Given the description of an element on the screen output the (x, y) to click on. 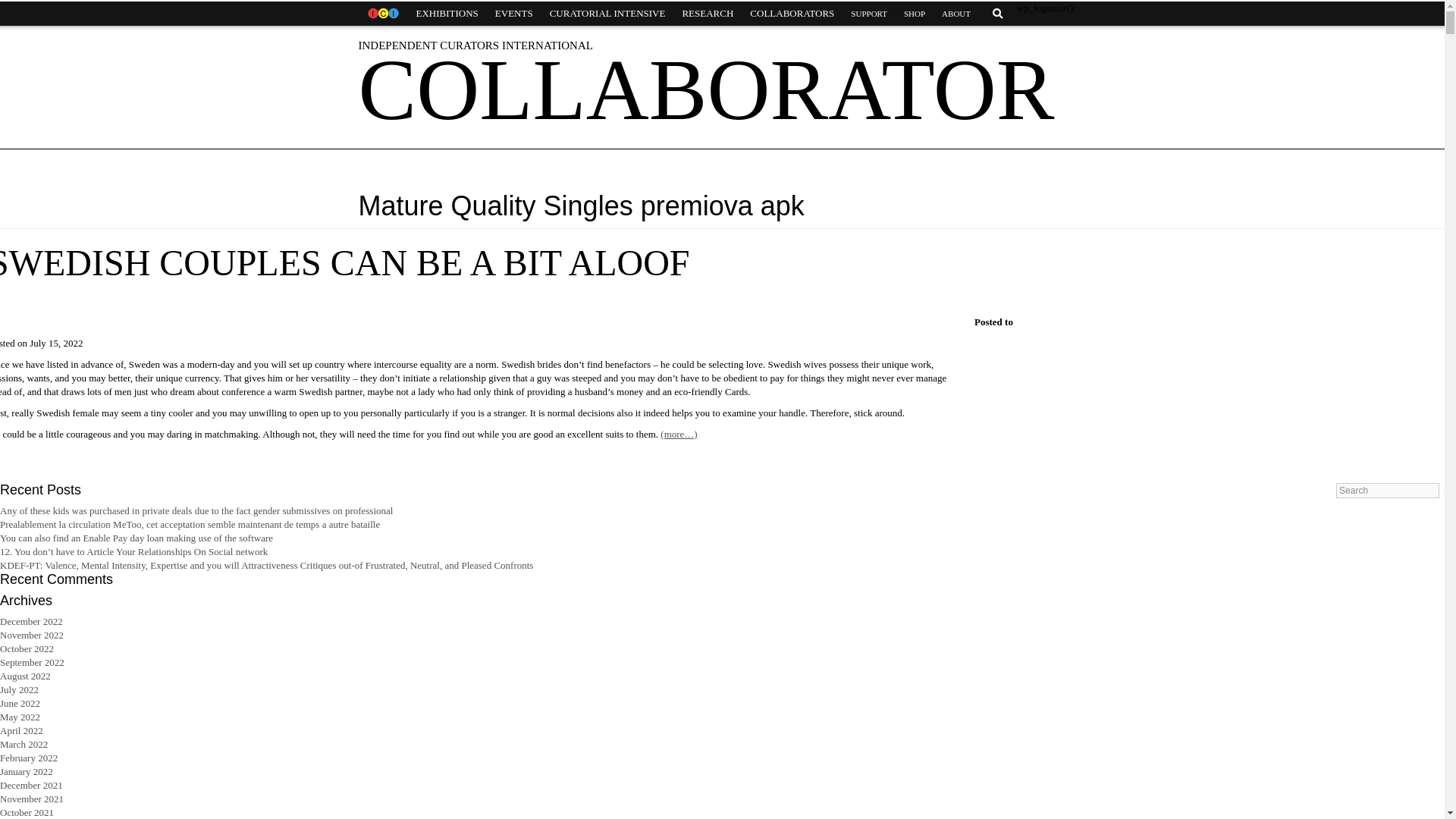
RESEARCH (706, 13)
EVENTS (513, 13)
CURATORIAL INTENSIVE (607, 13)
HOME (382, 13)
EXHIBITIONS (446, 13)
COLLABORATORS (792, 13)
